Given the description of an element on the screen output the (x, y) to click on. 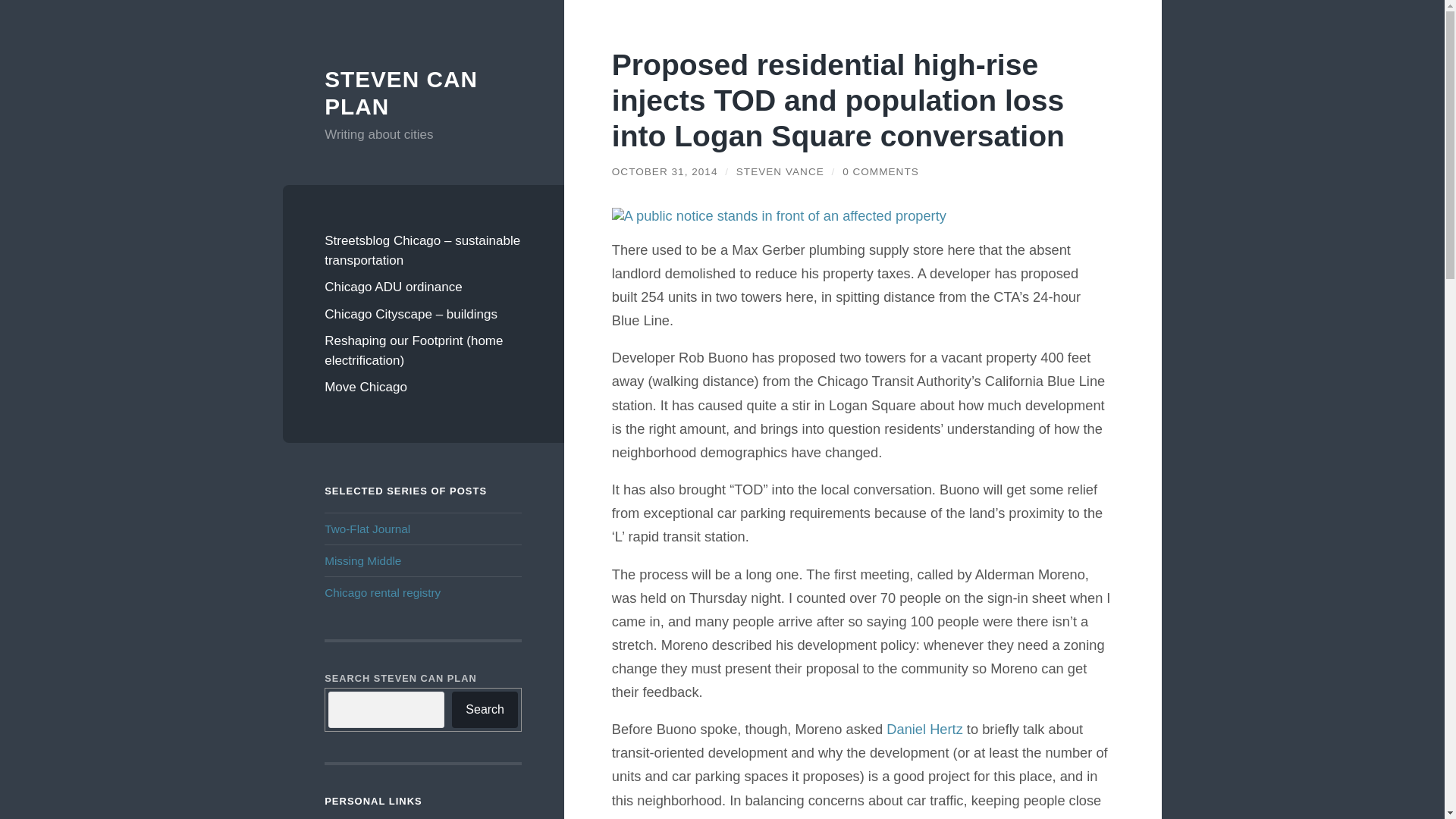
Search (484, 709)
STEVEN CAN PLAN (400, 92)
Chicago rental registry (382, 592)
Posts by Steven Vance (780, 171)
Daniel Hertz (924, 729)
Two-Flat Journal (367, 528)
Move Chicago (422, 387)
OCTOBER 31, 2014 (664, 171)
Chicago ADU ordinance (422, 287)
